Given the description of an element on the screen output the (x, y) to click on. 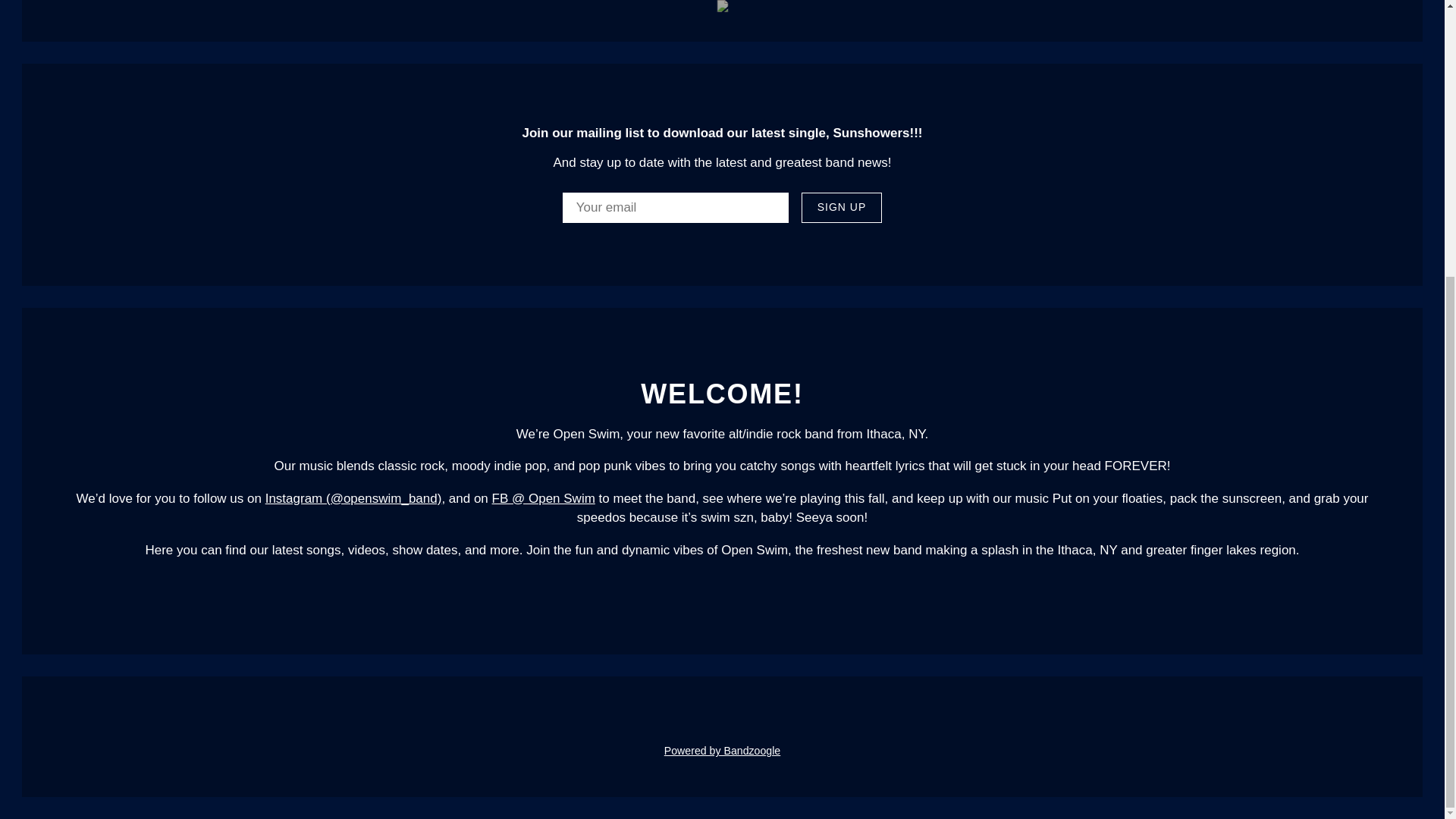
Powered by Bandzoogle (721, 750)
SIGN UP (842, 207)
Powered by Bandzoogle (721, 750)
